Given the description of an element on the screen output the (x, y) to click on. 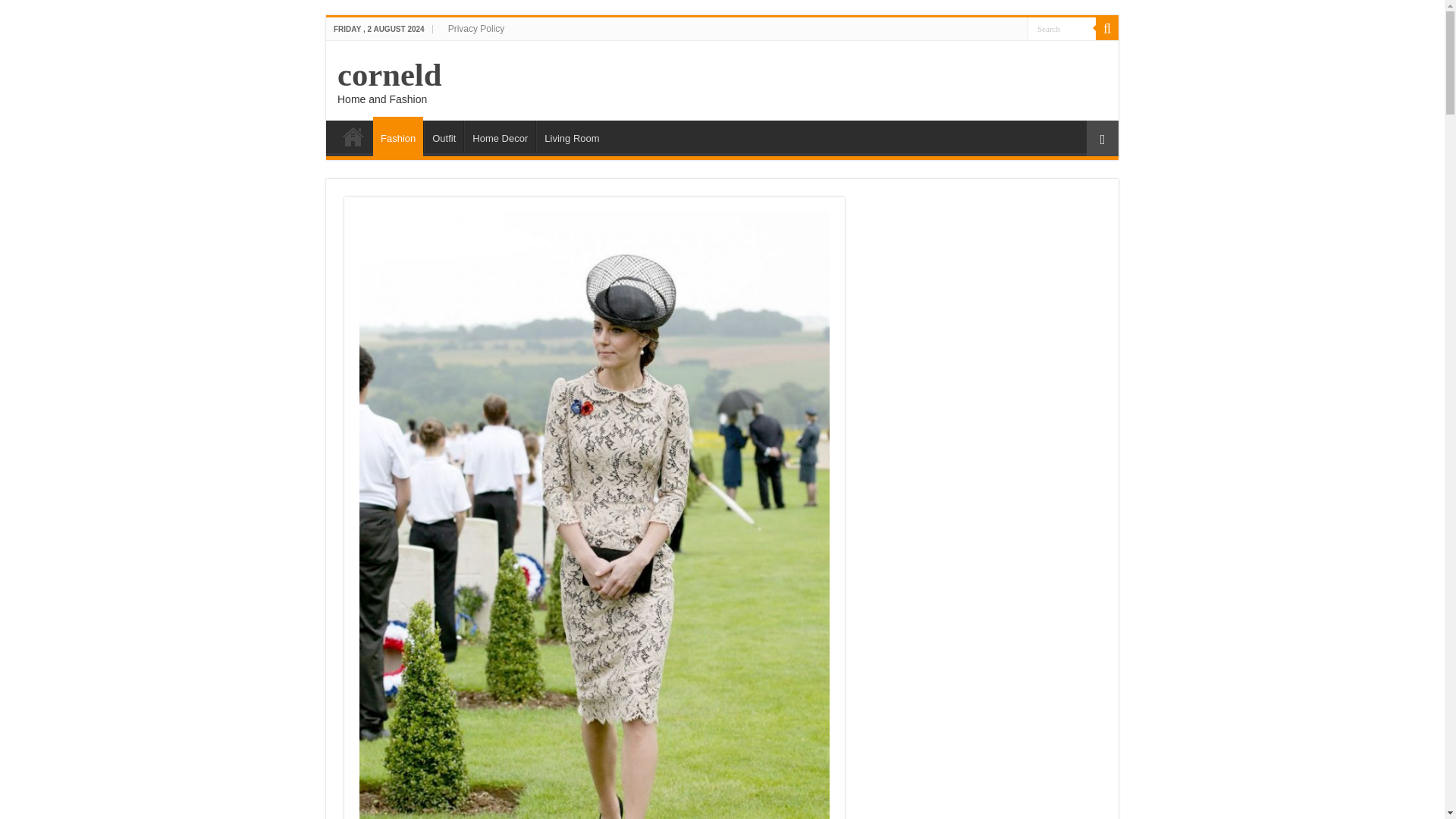
Fashion (397, 136)
Search (1061, 28)
Home (352, 136)
Search (1061, 28)
Search (1061, 28)
Privacy Policy (476, 28)
Living Room (571, 136)
Outfit (443, 136)
Home Decor (499, 136)
Search (1107, 28)
